Given the description of an element on the screen output the (x, y) to click on. 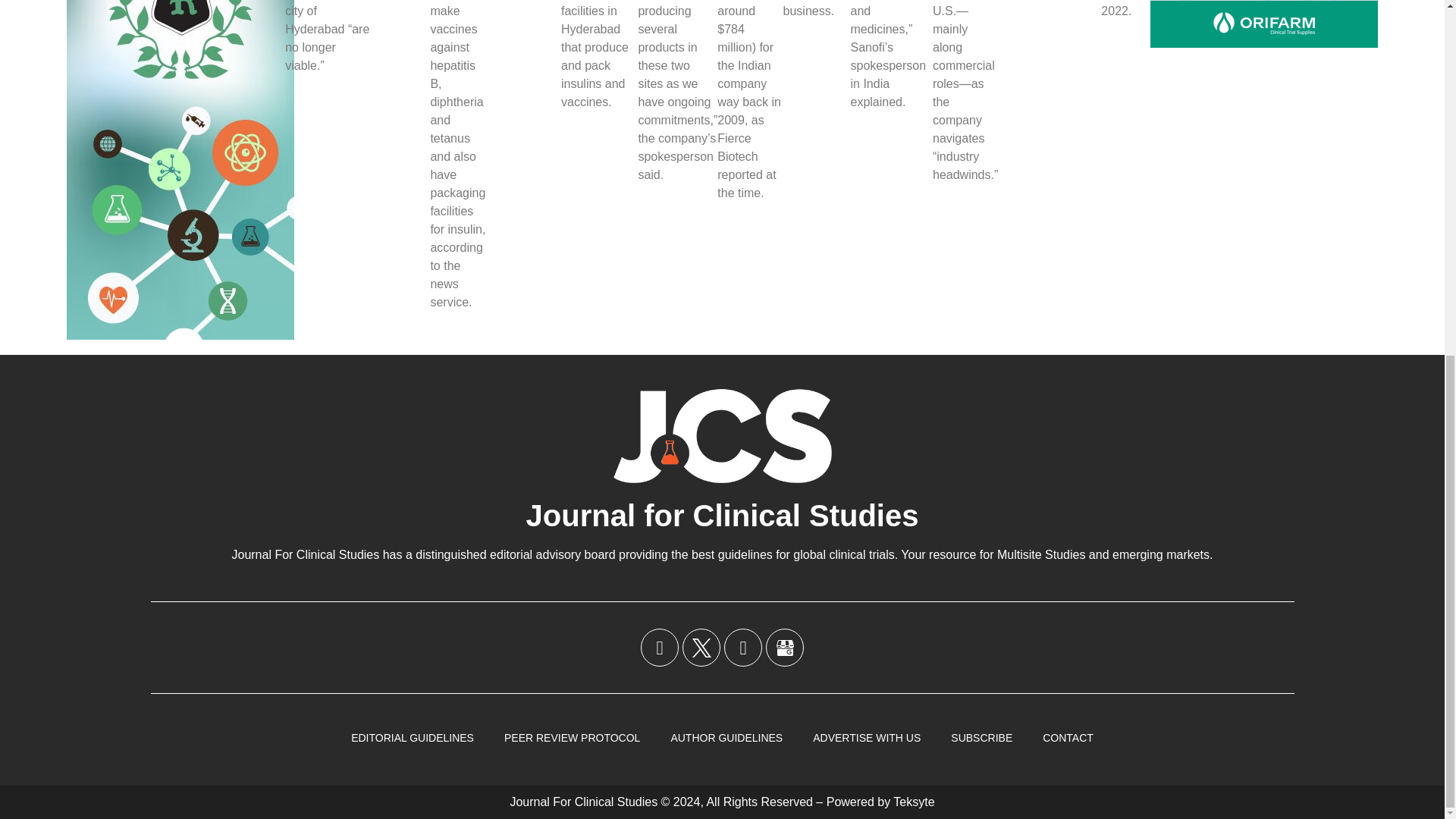
jcs-white.png (722, 434)
Web design services (913, 801)
